Given the description of an element on the screen output the (x, y) to click on. 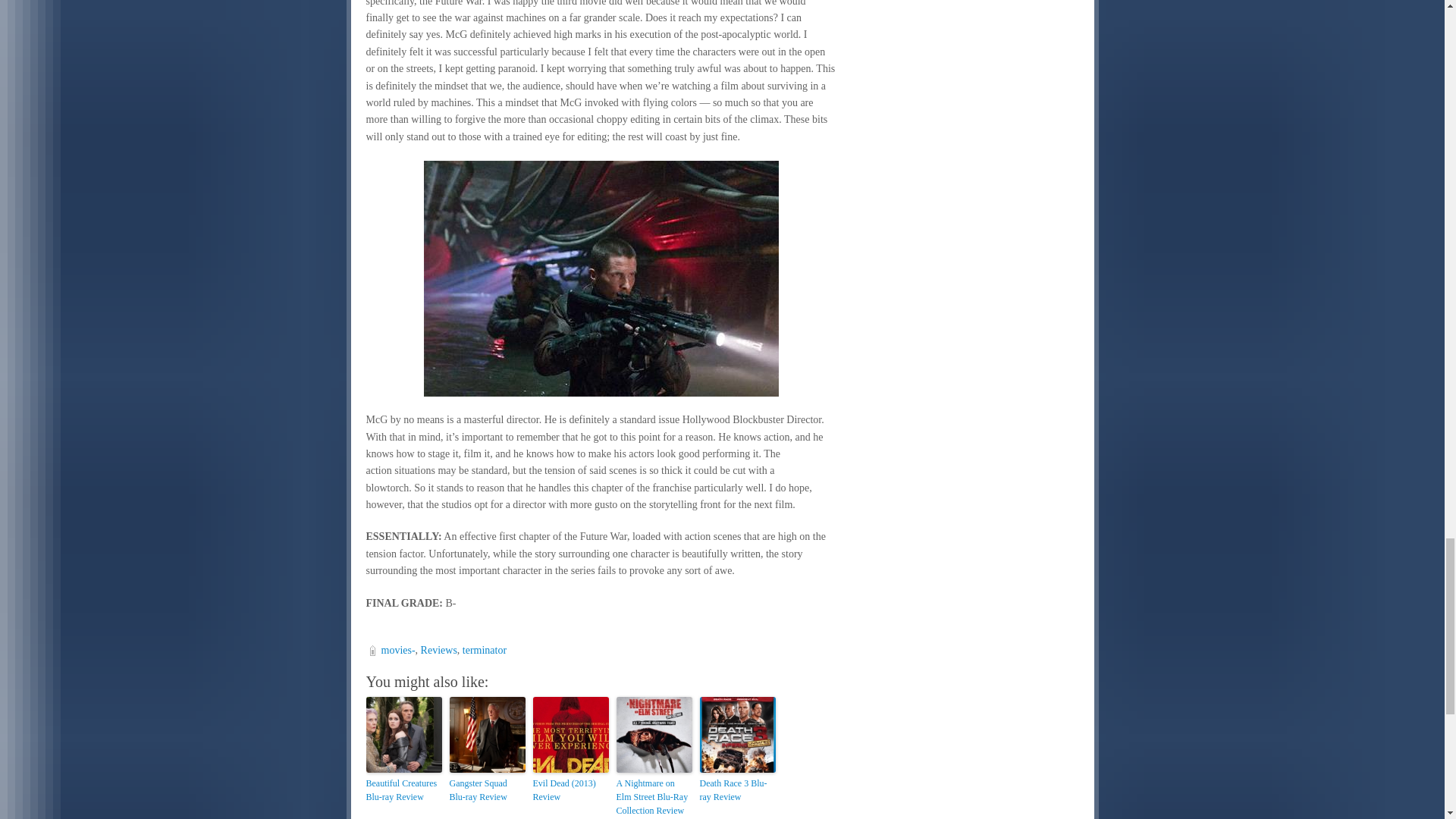
Reviews (438, 650)
Beautiful Creatures Blu-ray Review (403, 789)
terminator (484, 650)
movies- (397, 650)
A Nightmare on Elm Street Blu-Ray Collection Review (653, 796)
Gangster Squad Blu-ray Review (486, 789)
Death Race 3 Blu-ray Review (736, 789)
